Given the description of an element on the screen output the (x, y) to click on. 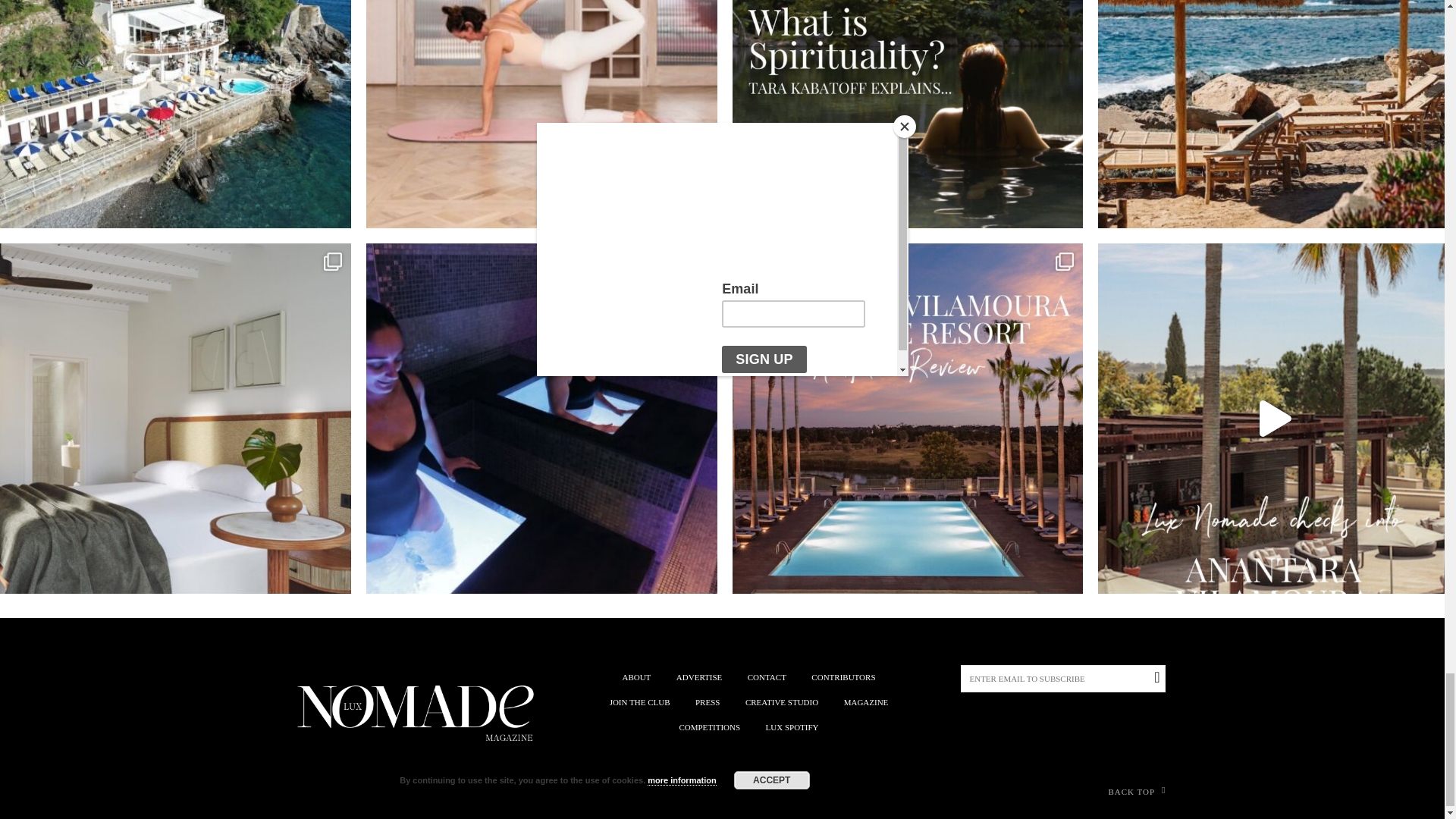
BACK TOP (1137, 791)
BACK TOP (835, 791)
